Given the description of an element on the screen output the (x, y) to click on. 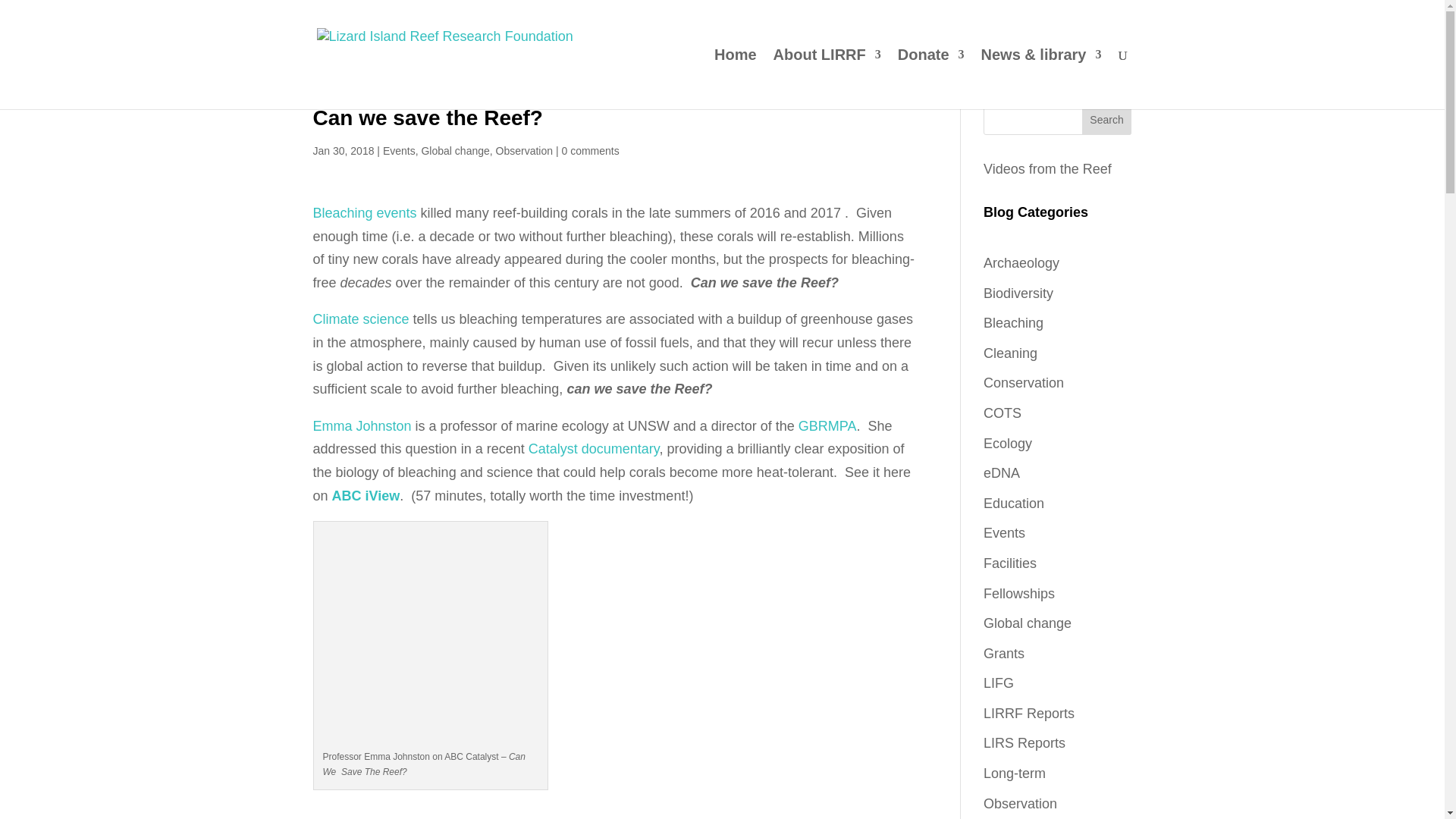
Global change (454, 150)
Bleaching events (364, 212)
Observation (524, 150)
Climate science (361, 319)
Search (1106, 119)
0 comments (589, 150)
Events (398, 150)
GBRMPA (827, 426)
About LIRRF (826, 78)
Emma Johnston (361, 426)
